Given the description of an element on the screen output the (x, y) to click on. 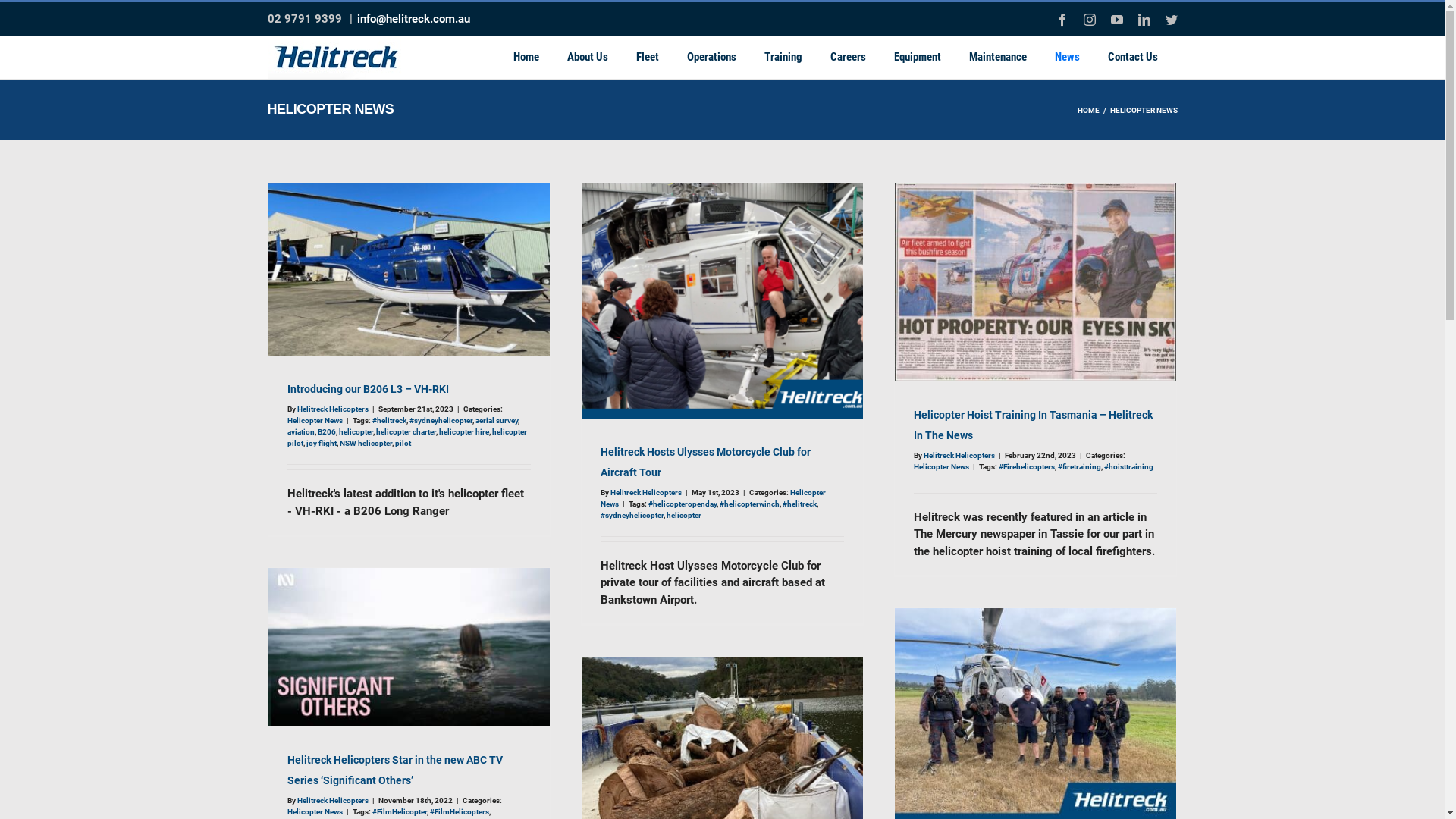
Fleet Element type: text (647, 57)
Home Element type: text (526, 57)
Operations Element type: text (710, 57)
Equipment Element type: text (917, 57)
News Element type: text (1067, 57)
Instagram Element type: text (1088, 19)
Careers Element type: text (848, 57)
YouTube Element type: text (1116, 19)
Helitreck Helicopters Element type: text (644, 492)
helicopter Element type: text (355, 431)
Maintenance Element type: text (997, 57)
joy flight Element type: text (321, 443)
Helicopter News Element type: text (314, 811)
#firetraining Element type: text (1078, 466)
#helitreck Element type: text (799, 503)
aviation Element type: text (299, 431)
#helicopterwinch Element type: text (748, 503)
helicopter pilot Element type: text (406, 437)
NSW helicopter Element type: text (365, 443)
Helitreck Hosts Ulysses Motorcycle Club for Aircraft Tour Element type: text (705, 461)
#sydneyhelicopter Element type: text (440, 420)
#FilmHelicopters Element type: text (458, 811)
Helicopter News Element type: text (712, 498)
Helitreck Helicopters Element type: text (332, 408)
About Us Element type: text (586, 57)
pilot Element type: text (402, 443)
#Firehelicopters Element type: text (1025, 466)
Facebook Element type: text (1061, 19)
Helitreck Helicopters Element type: text (332, 800)
#helitreck Element type: text (388, 420)
#helicopteropenday Element type: text (681, 503)
info@helitreck.com.au Element type: text (412, 18)
#sydneyhelicopter Element type: text (631, 515)
Contact Us Element type: text (1132, 57)
#hoisttraining Element type: text (1128, 466)
Helicopter News Element type: text (314, 420)
Helicopter News Element type: text (940, 466)
Training Element type: text (782, 57)
Twitter Element type: text (1170, 19)
helicopter hire Element type: text (463, 431)
Helitreck Helicopters Element type: text (958, 455)
HOME Element type: text (1087, 110)
helicopter Element type: text (682, 515)
LinkedIn Element type: text (1143, 19)
B206 Element type: text (325, 431)
#FilmHelicopter Element type: text (398, 811)
aerial survey Element type: text (495, 420)
helicopter charter Element type: text (406, 431)
